Given the description of an element on the screen output the (x, y) to click on. 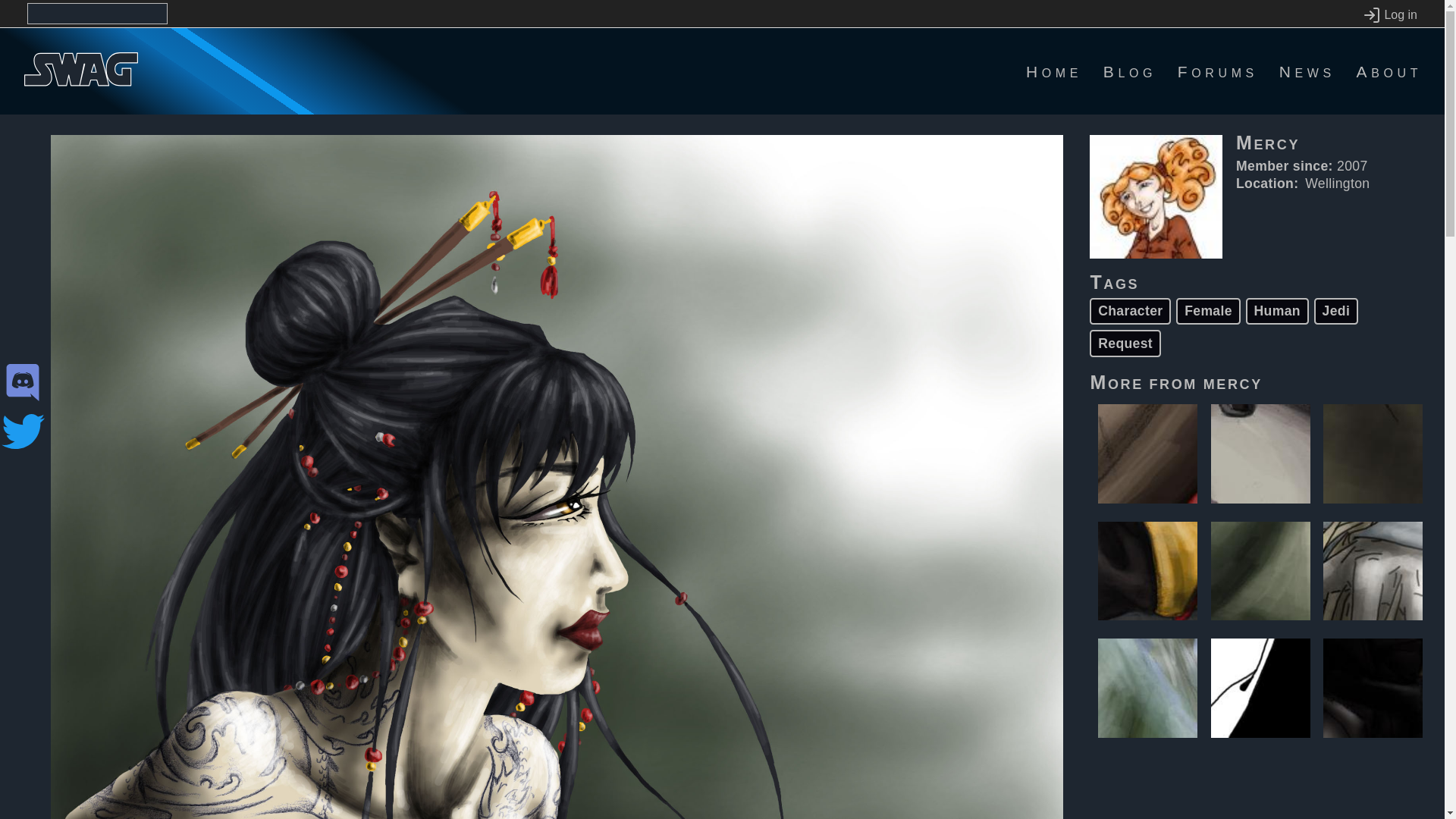
Home (1053, 71)
About (1389, 71)
Enter the terms you wish to search for. (97, 13)
Forums (1217, 71)
News (1307, 71)
Log in (1389, 14)
Blog (1129, 71)
View user profile. (1233, 382)
